Given the description of an element on the screen output the (x, y) to click on. 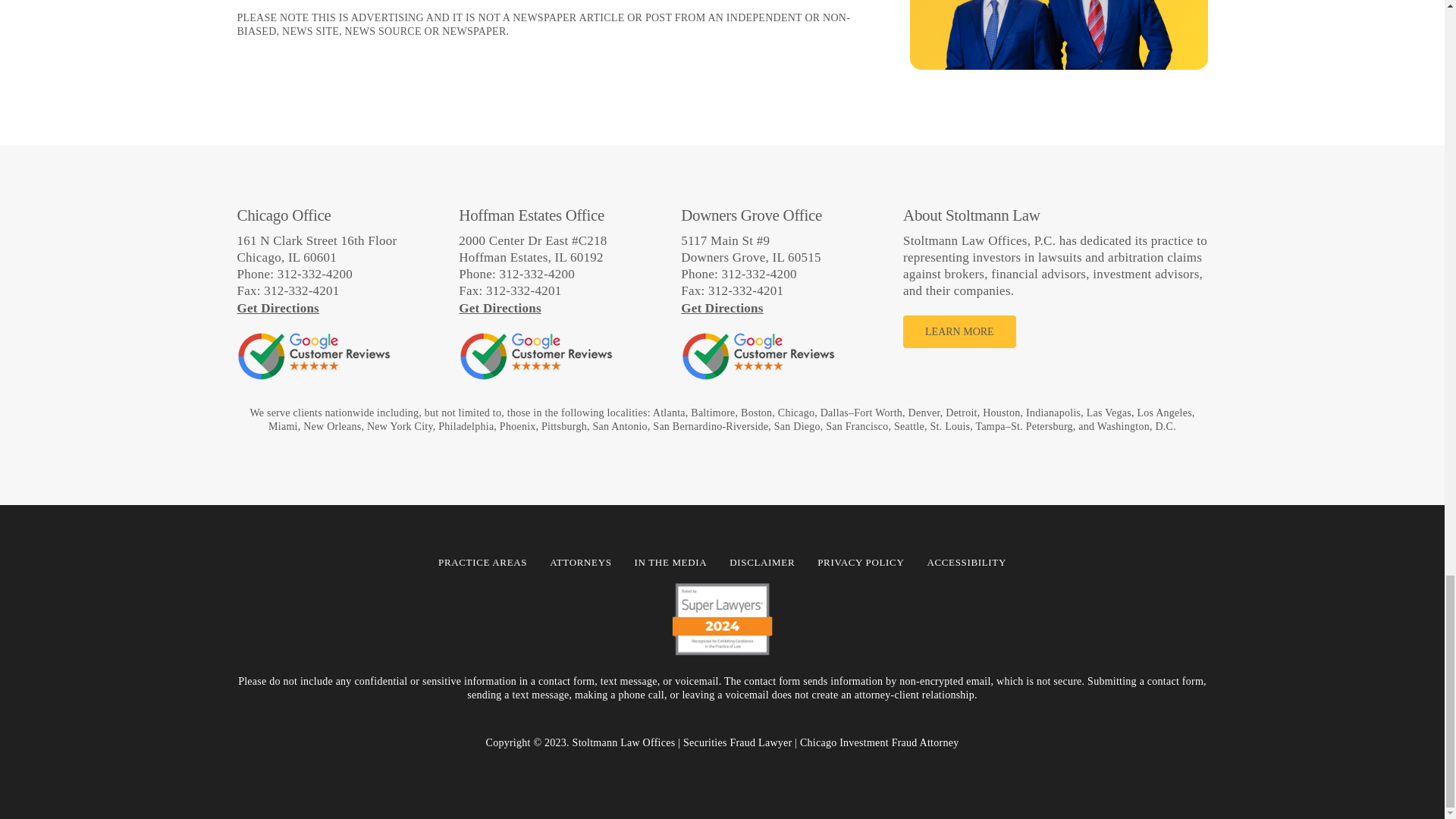
Google Customer Reviews (535, 356)
